Given the description of an element on the screen output the (x, y) to click on. 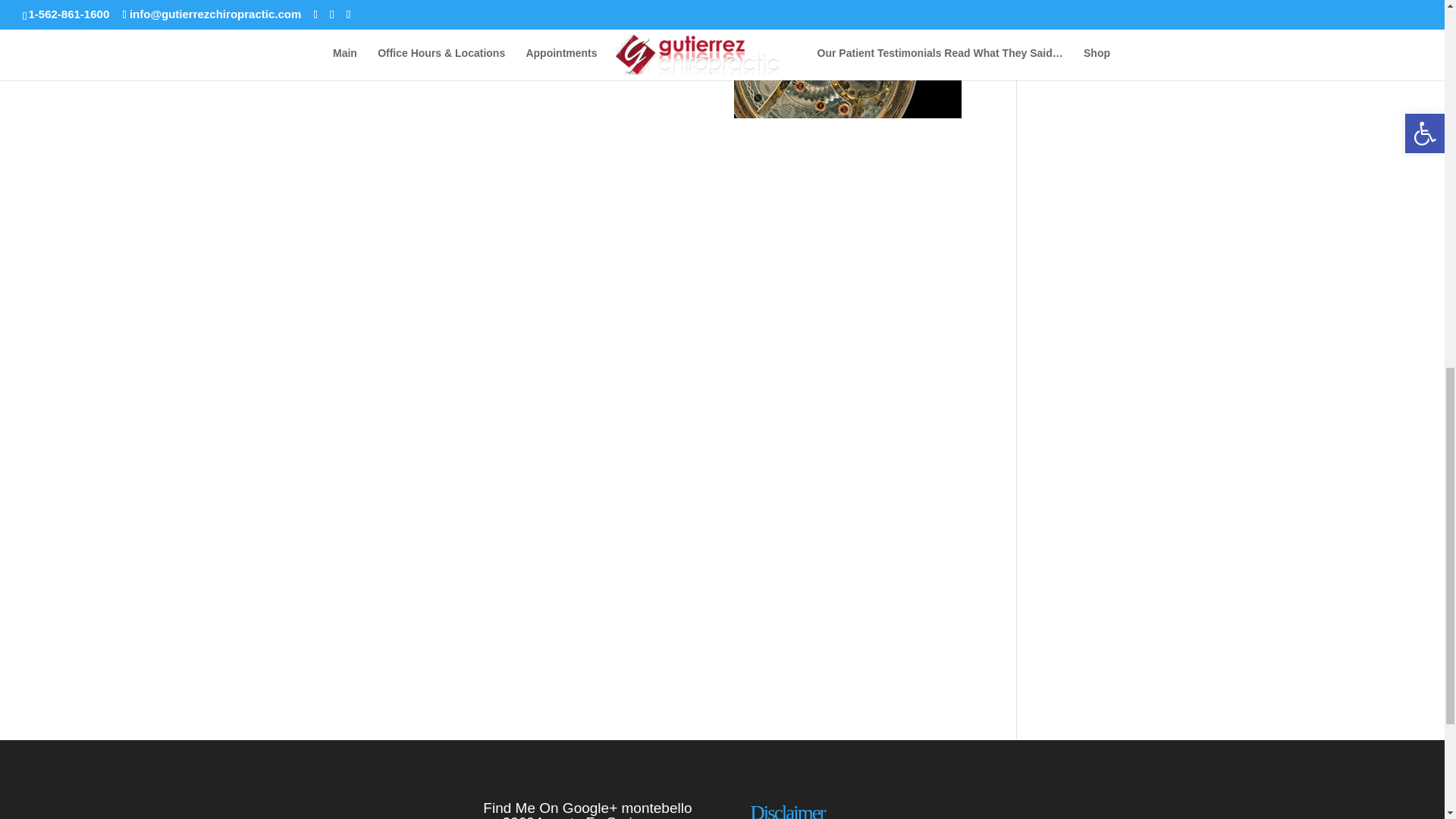
santa Fe Springs ca ca 90670 (588, 816)
montebello ca 90604 (587, 809)
Beautiful old clock machine (846, 58)
